Given the description of an element on the screen output the (x, y) to click on. 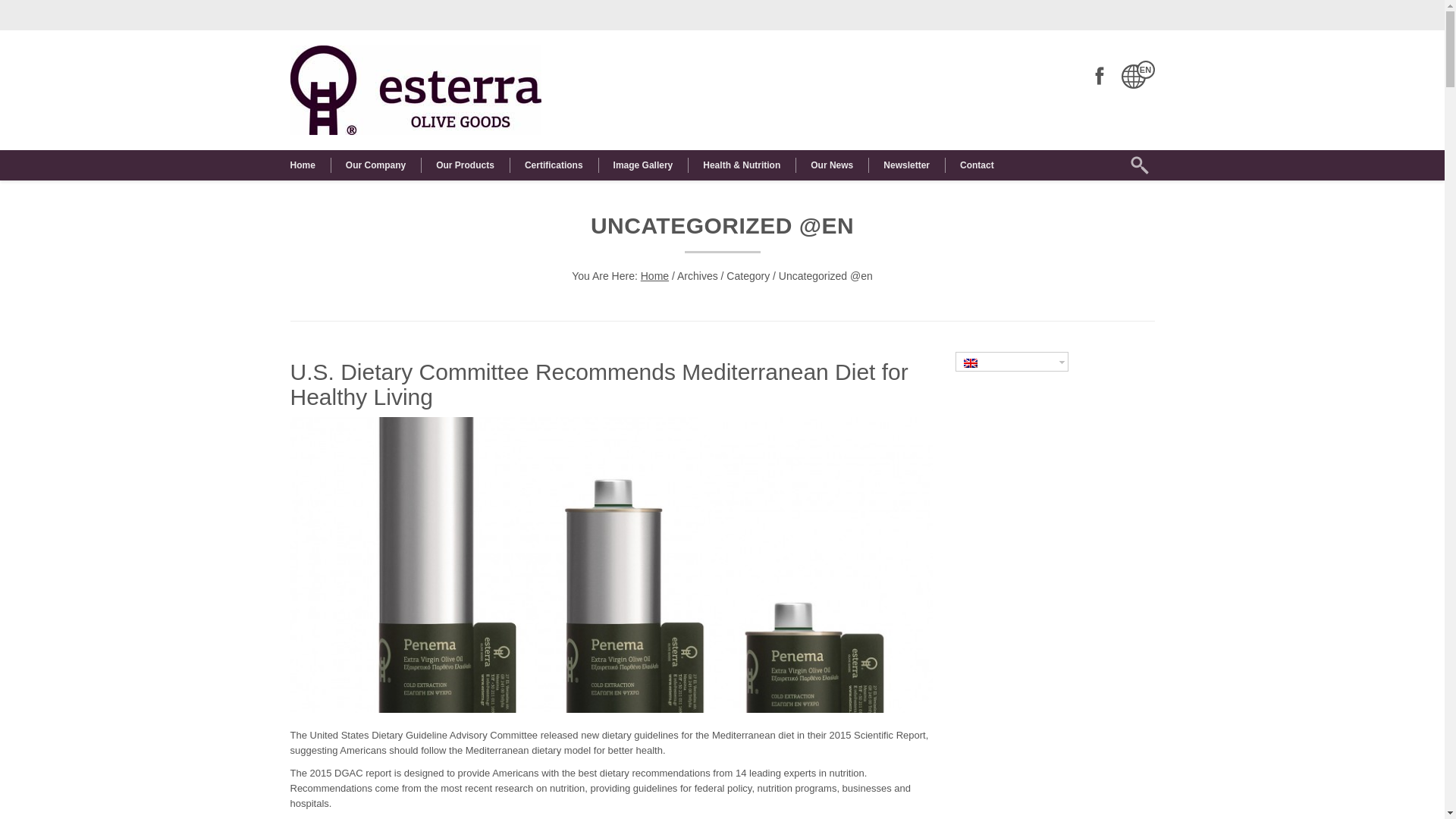
Image Gallery (643, 164)
English (969, 362)
Contact (976, 164)
Our Company (375, 164)
Our News (830, 164)
Our Products (464, 164)
Home (654, 275)
Newsletter (905, 164)
Home (309, 164)
Certifications (553, 164)
